Given the description of an element on the screen output the (x, y) to click on. 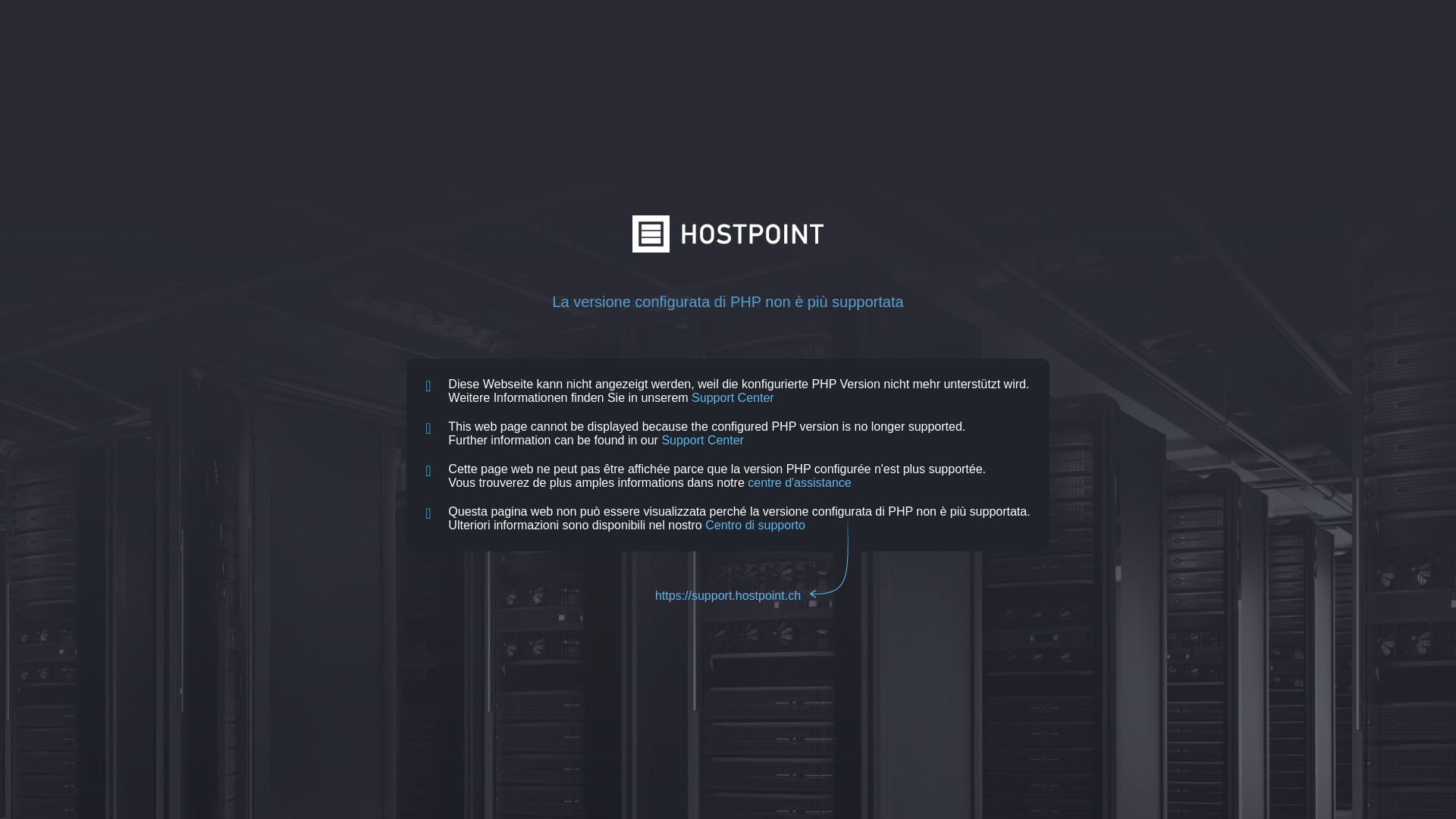
centre d'assistance Element type: text (798, 482)
Centro di supporto Element type: text (755, 524)
Support Center Element type: text (702, 439)
Support Center Element type: text (732, 397)
https://support.hostpoint.ch Element type: text (727, 595)
